Given the description of an element on the screen output the (x, y) to click on. 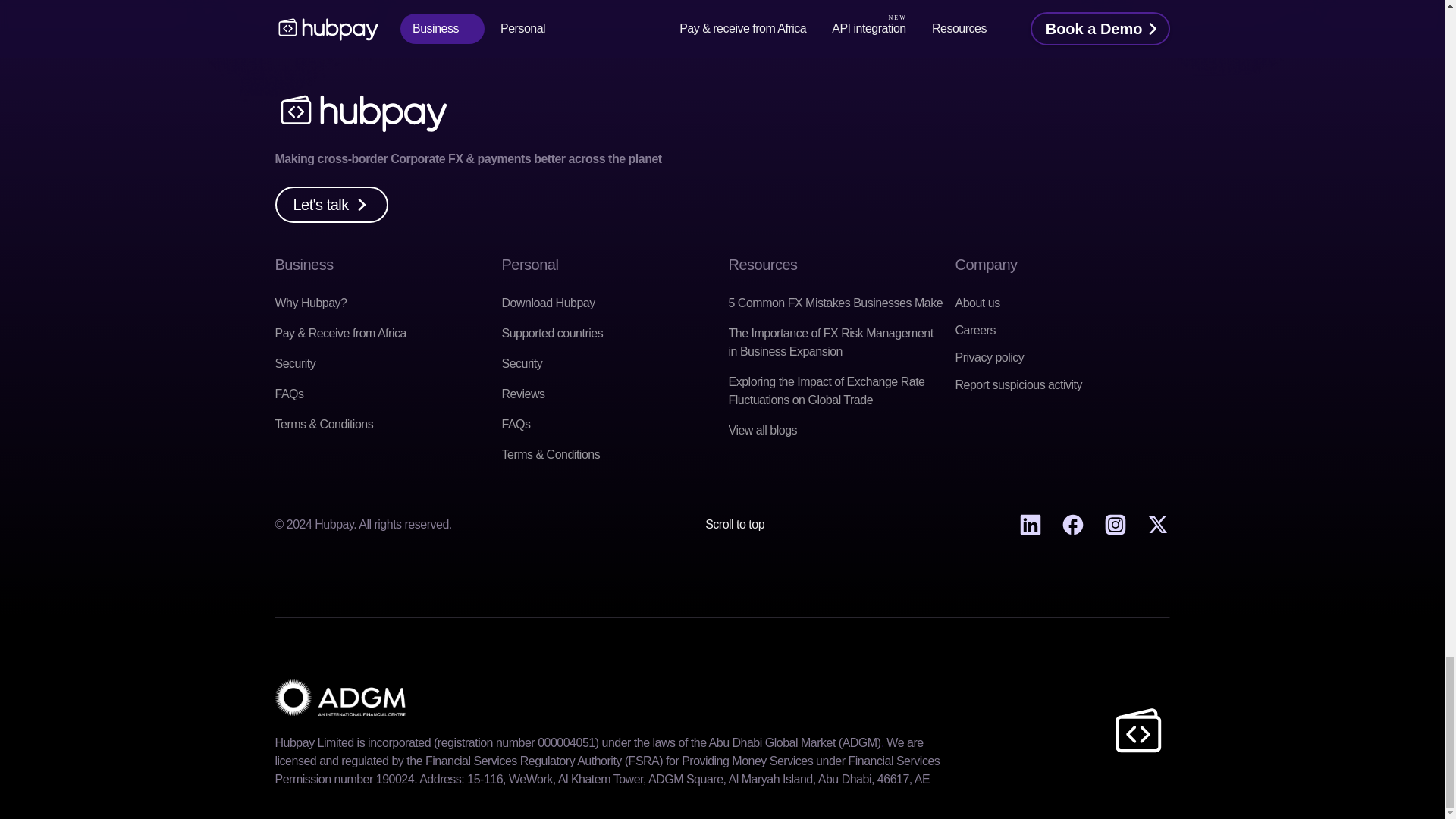
Company (986, 264)
About us (977, 302)
FAQs (288, 393)
Supported countries (553, 332)
5 Common FX Mistakes Businesses Make (835, 302)
Security (522, 363)
Business (304, 264)
View all blogs (762, 430)
Careers (975, 329)
Download Hubpay (548, 302)
Security (295, 363)
Personal (530, 264)
Why Hubpay? (310, 302)
Let's talk (331, 204)
